Given the description of an element on the screen output the (x, y) to click on. 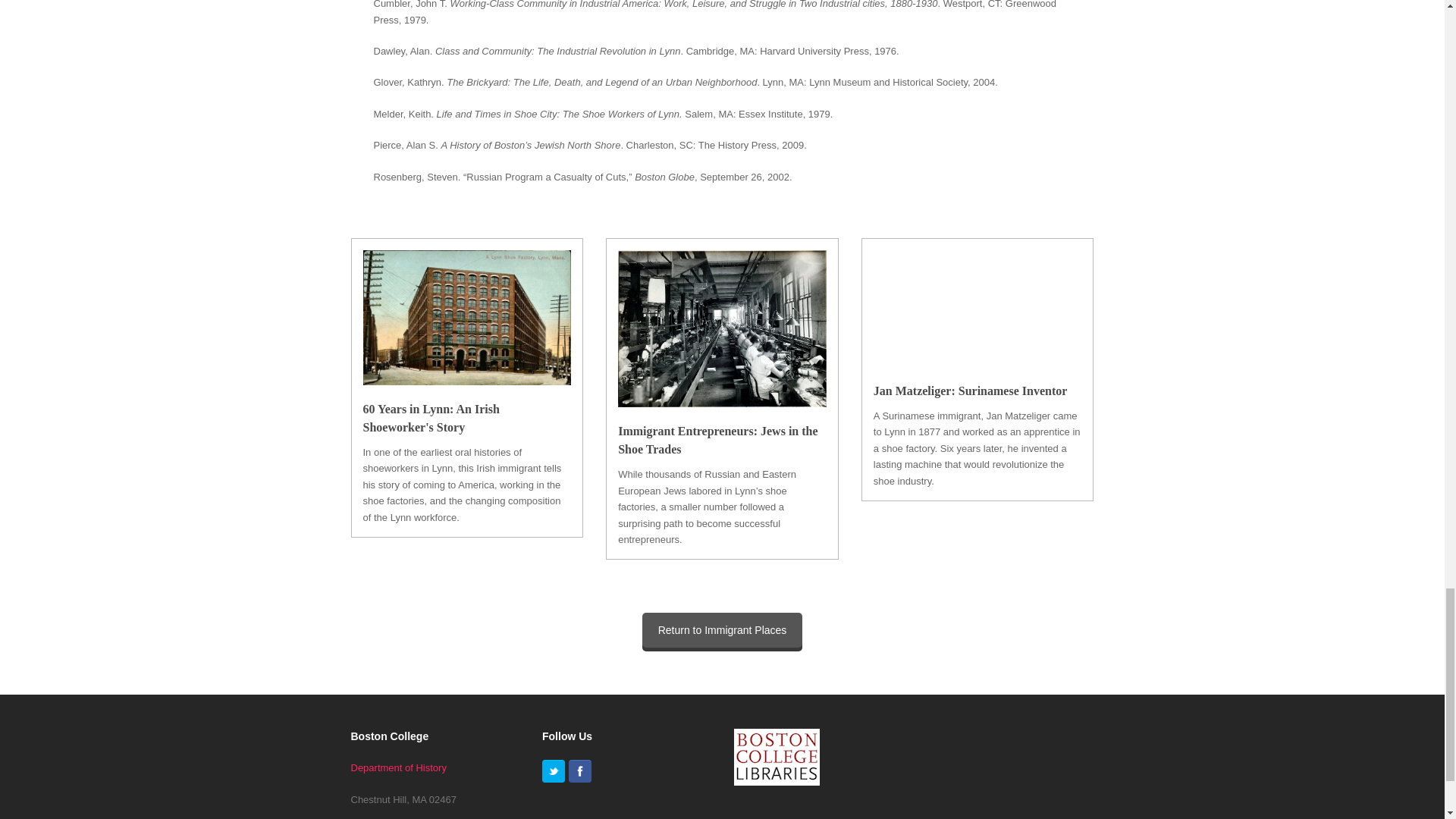
60 Years in Lynn: An Irish Shoeworker's Story (430, 418)
Facebook (580, 771)
Jews in the Shoe Trade (716, 440)
Twitter (552, 771)
Jan Matzeliger: Surinamese Inventor (970, 390)
Immigrant Places (722, 629)
Immigrant Entrepreneurs: Jews in the Shoe Trades (716, 440)
Shoe Maker Mr Jan Ernst Matzeliger (977, 308)
60 Years in Lynn: An Irish Shoeworker's Story (466, 376)
60 Years in Lynn: An Irish Shoeworker's Story (430, 418)
